Given the description of an element on the screen output the (x, y) to click on. 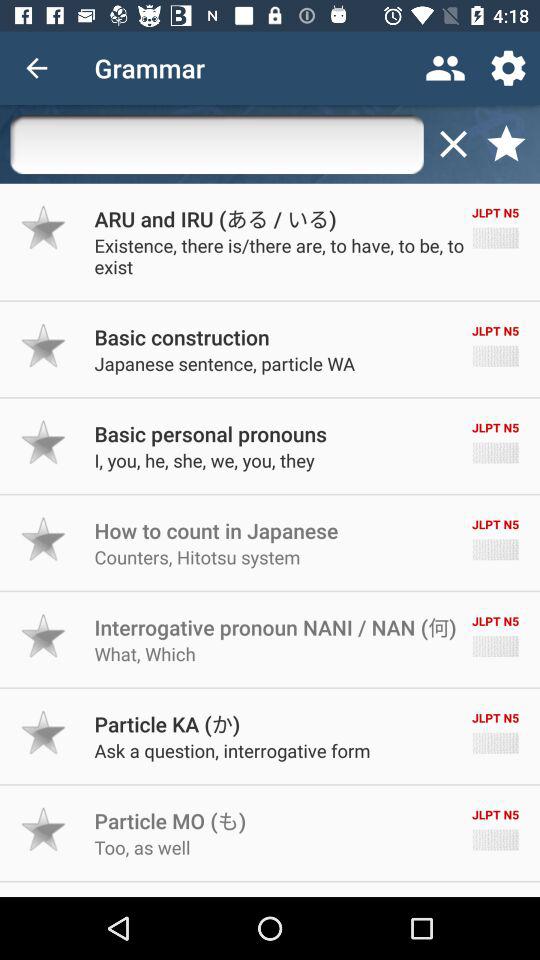
make item a favorite (44, 539)
